Given the description of an element on the screen output the (x, y) to click on. 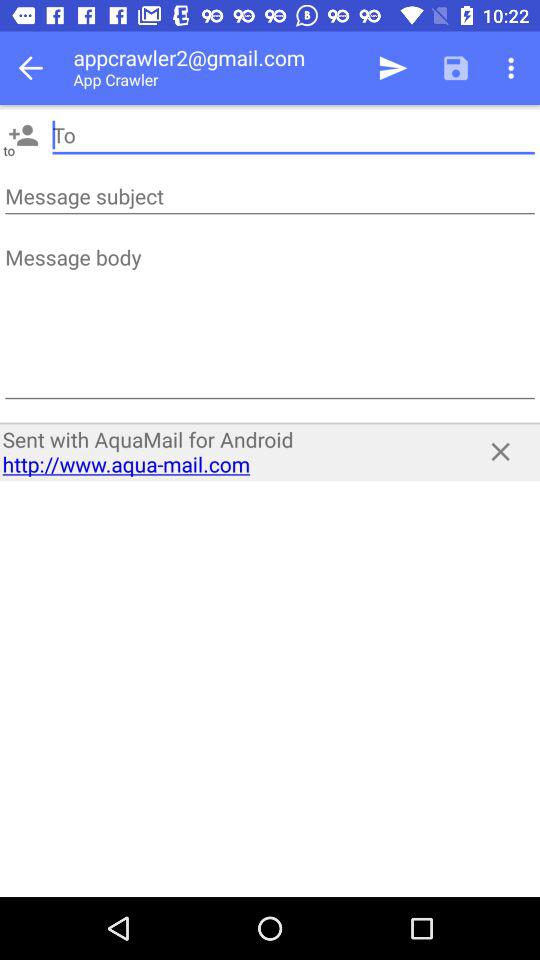
open the app next to sent with aquamail item (500, 451)
